Given the description of an element on the screen output the (x, y) to click on. 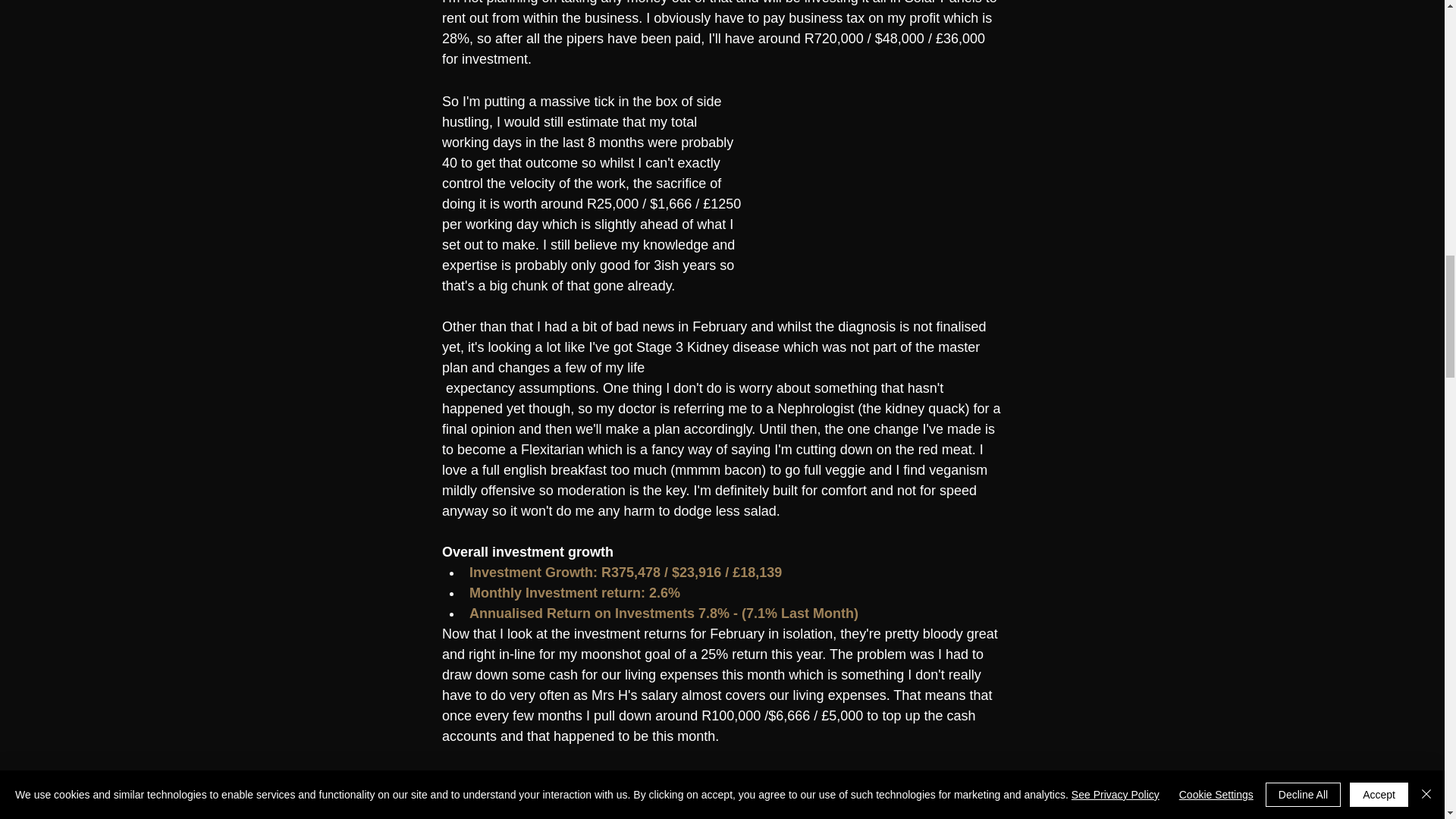
remote content (888, 794)
Magnificent 7 ETFs (527, 778)
remote content (888, 187)
